Given the description of an element on the screen output the (x, y) to click on. 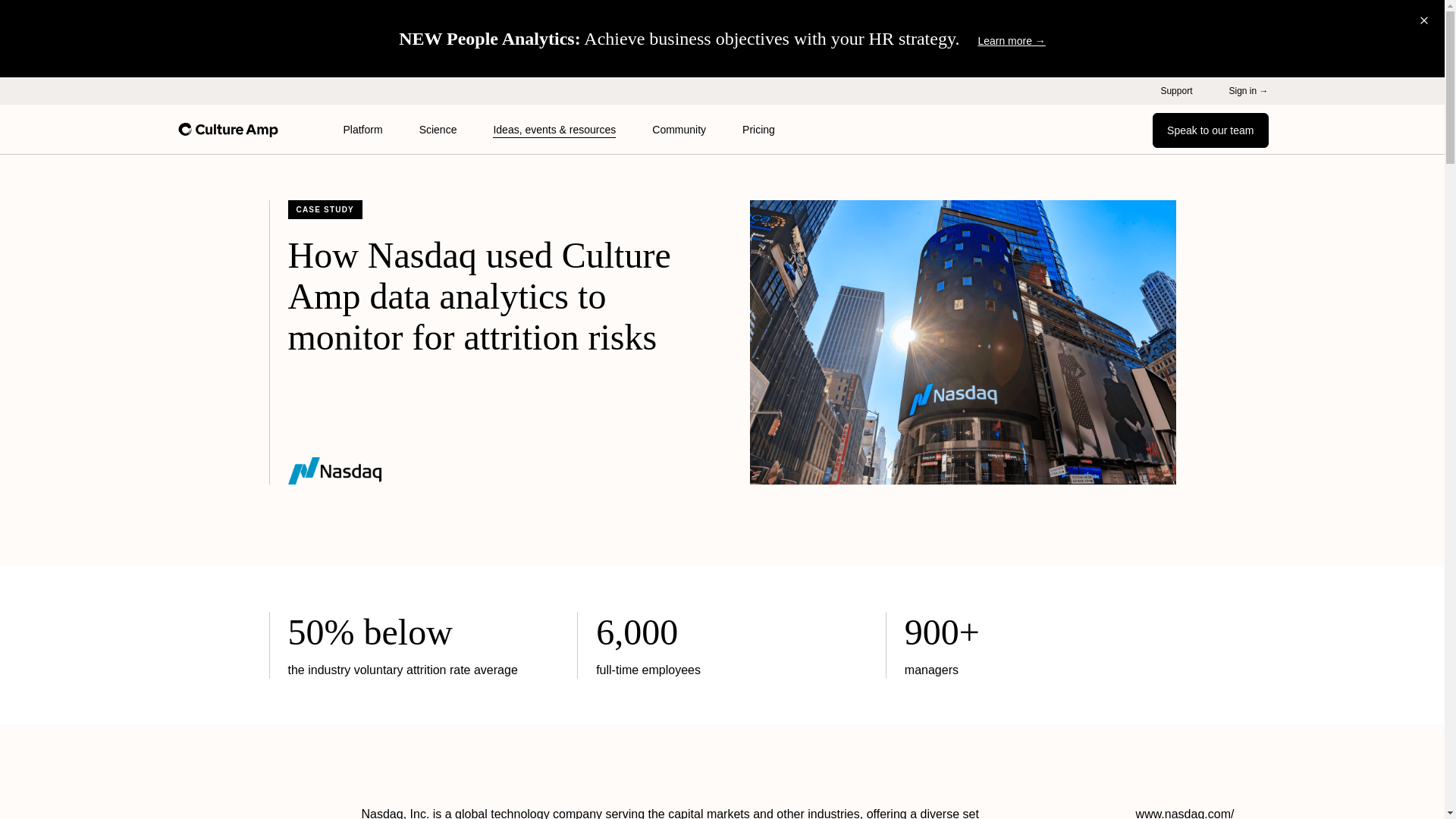
Science (438, 129)
Platform (362, 129)
Support (1176, 90)
